Given the description of an element on the screen output the (x, y) to click on. 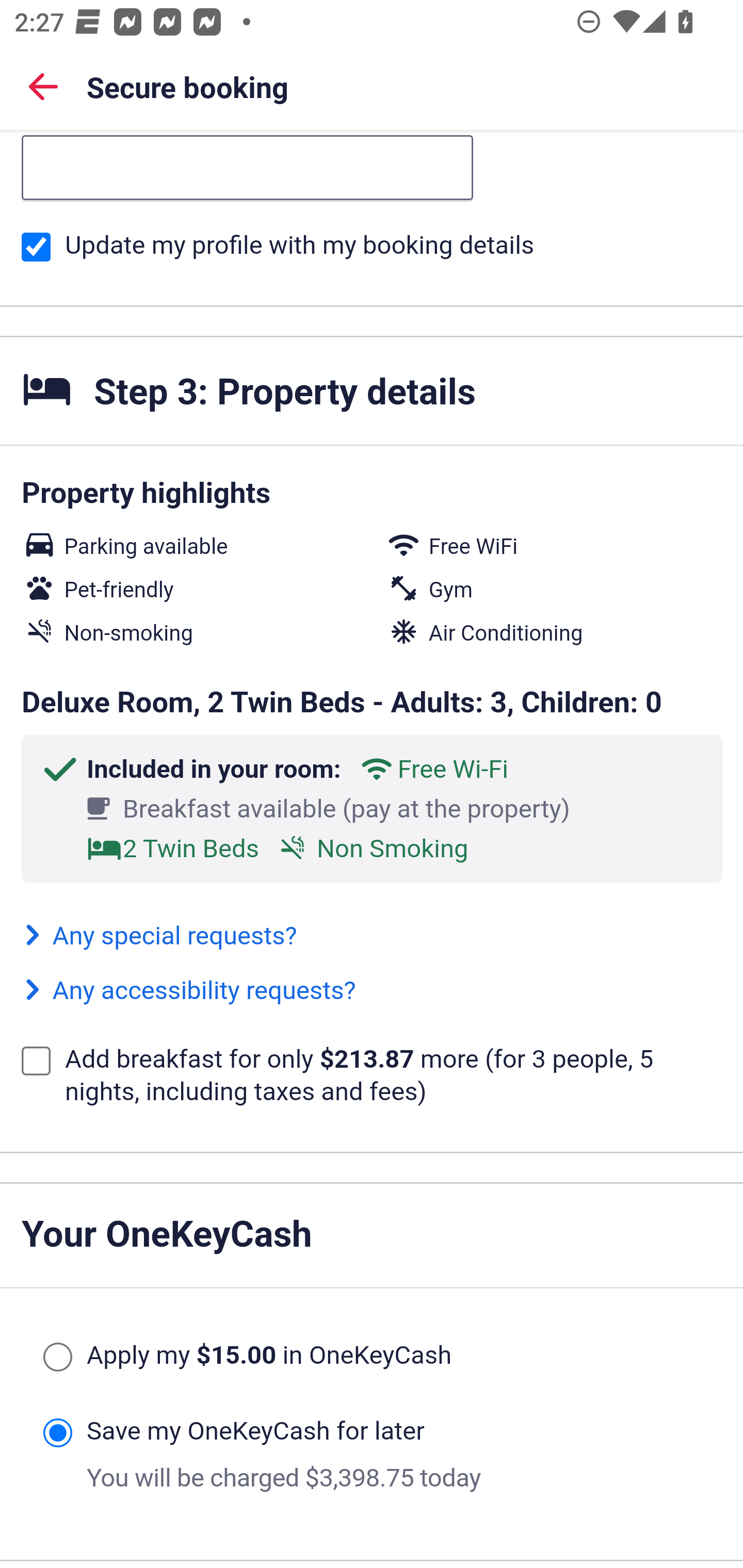
Back (43, 86)
Update my profile with my booking details (36, 245)
Any special requests? (159, 935)
Any accessibility requests? (189, 989)
Apply my $15.00 in OneKeyCash (57, 1356)
